Given the description of an element on the screen output the (x, y) to click on. 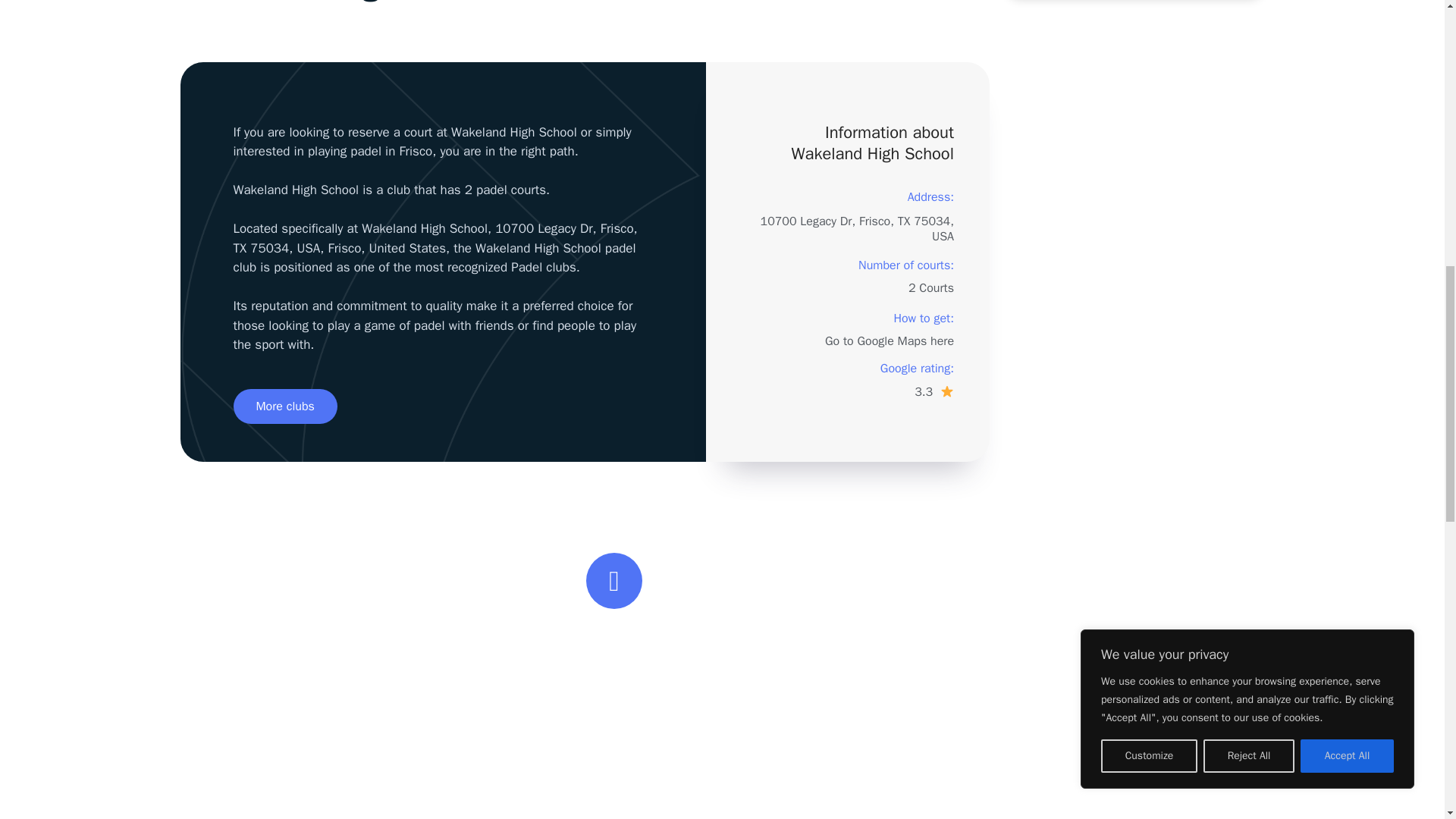
More clubs (284, 406)
Go to Google Maps here (889, 340)
